Given the description of an element on the screen output the (x, y) to click on. 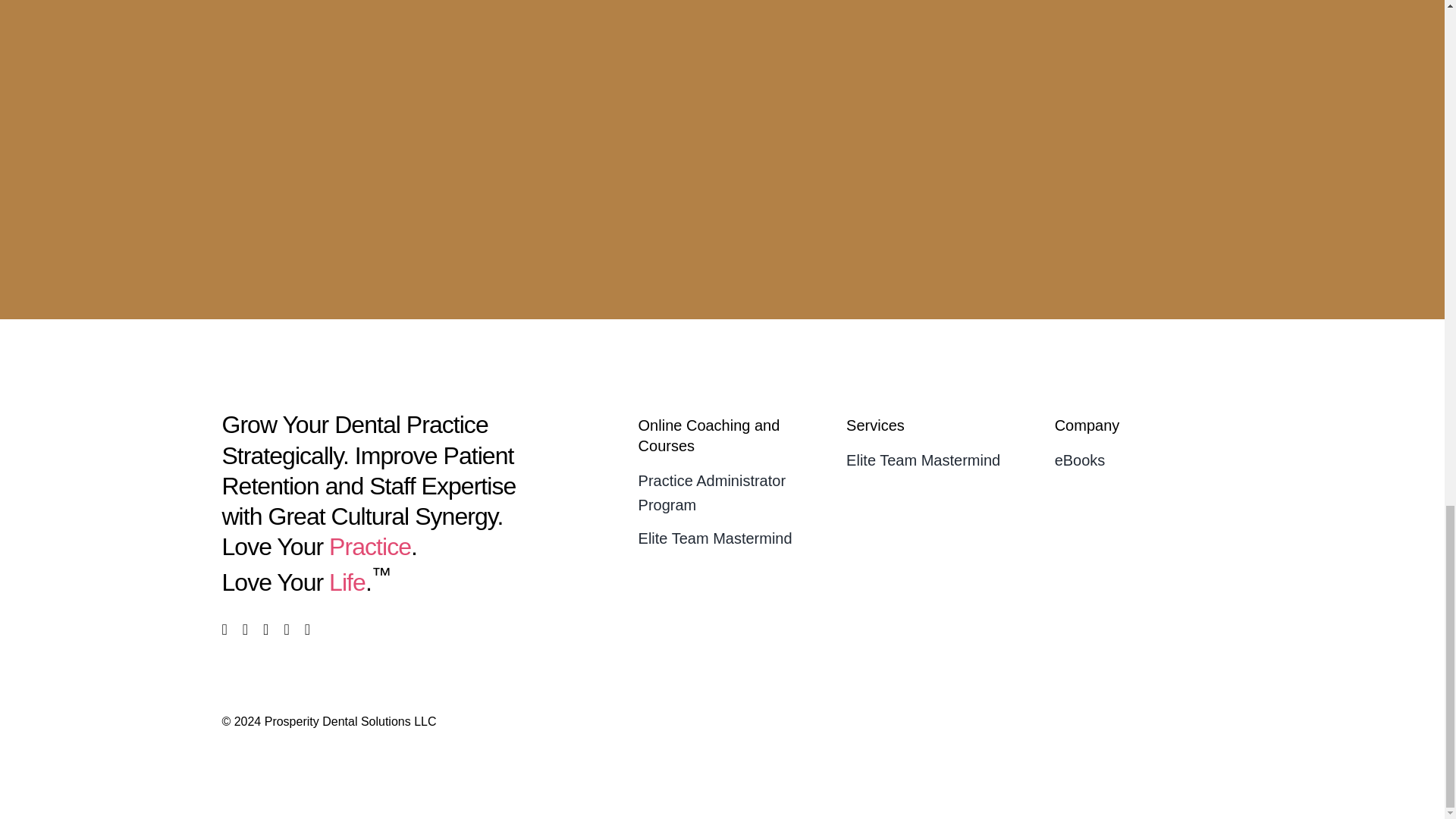
Elite Team Mastermind (929, 459)
Practice Administrator Program (722, 492)
eBooks (1138, 459)
Elite Team Mastermind (722, 538)
